Given the description of an element on the screen output the (x, y) to click on. 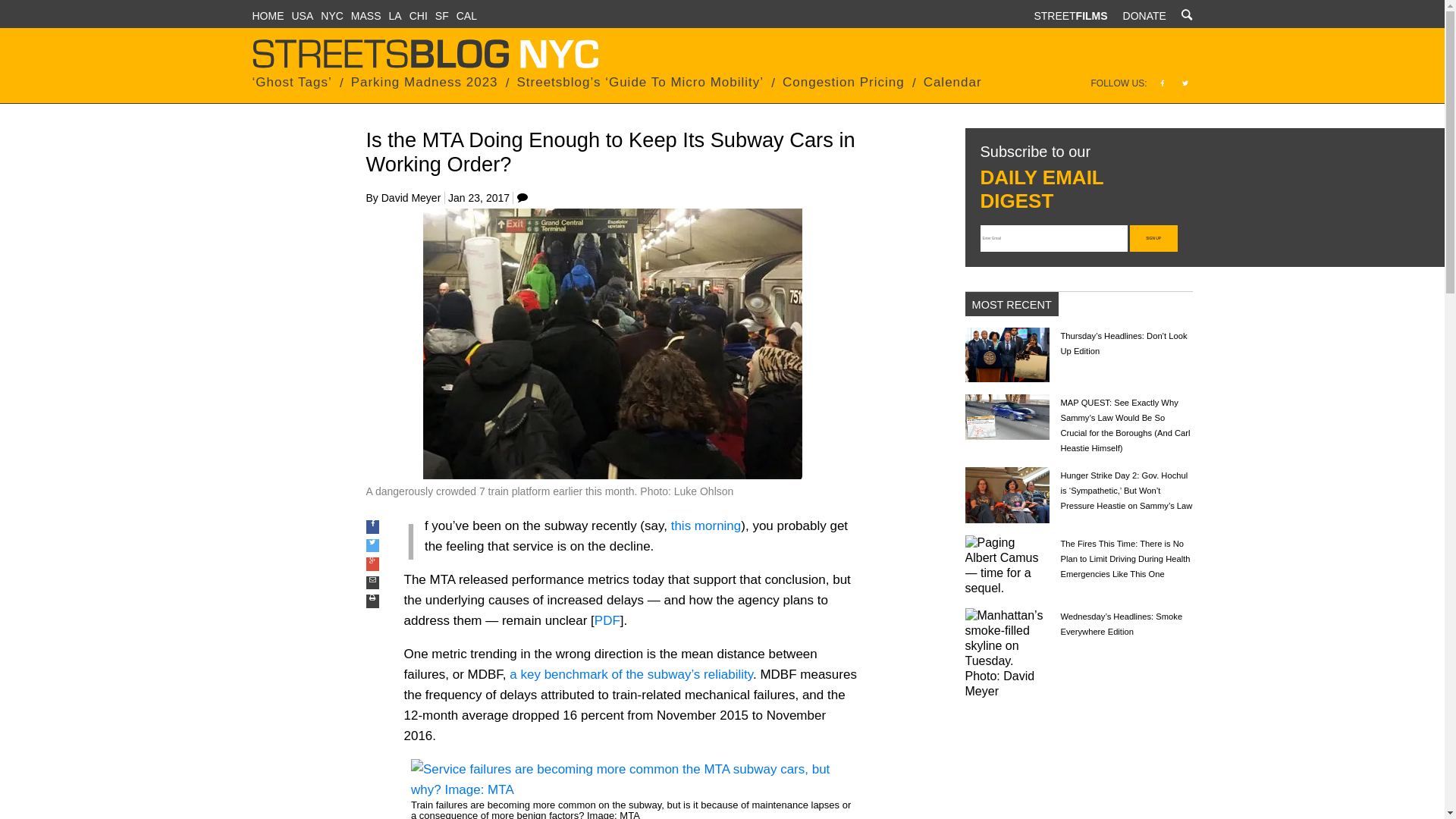
MASS (365, 15)
DONATE (1144, 15)
David Meyer (411, 197)
Parking Madness 2023 (423, 82)
Luke Ohlson (703, 491)
SF (441, 15)
Jan 23, 2017 (478, 197)
CHI (418, 15)
STREETFILMS (1069, 15)
